Given the description of an element on the screen output the (x, y) to click on. 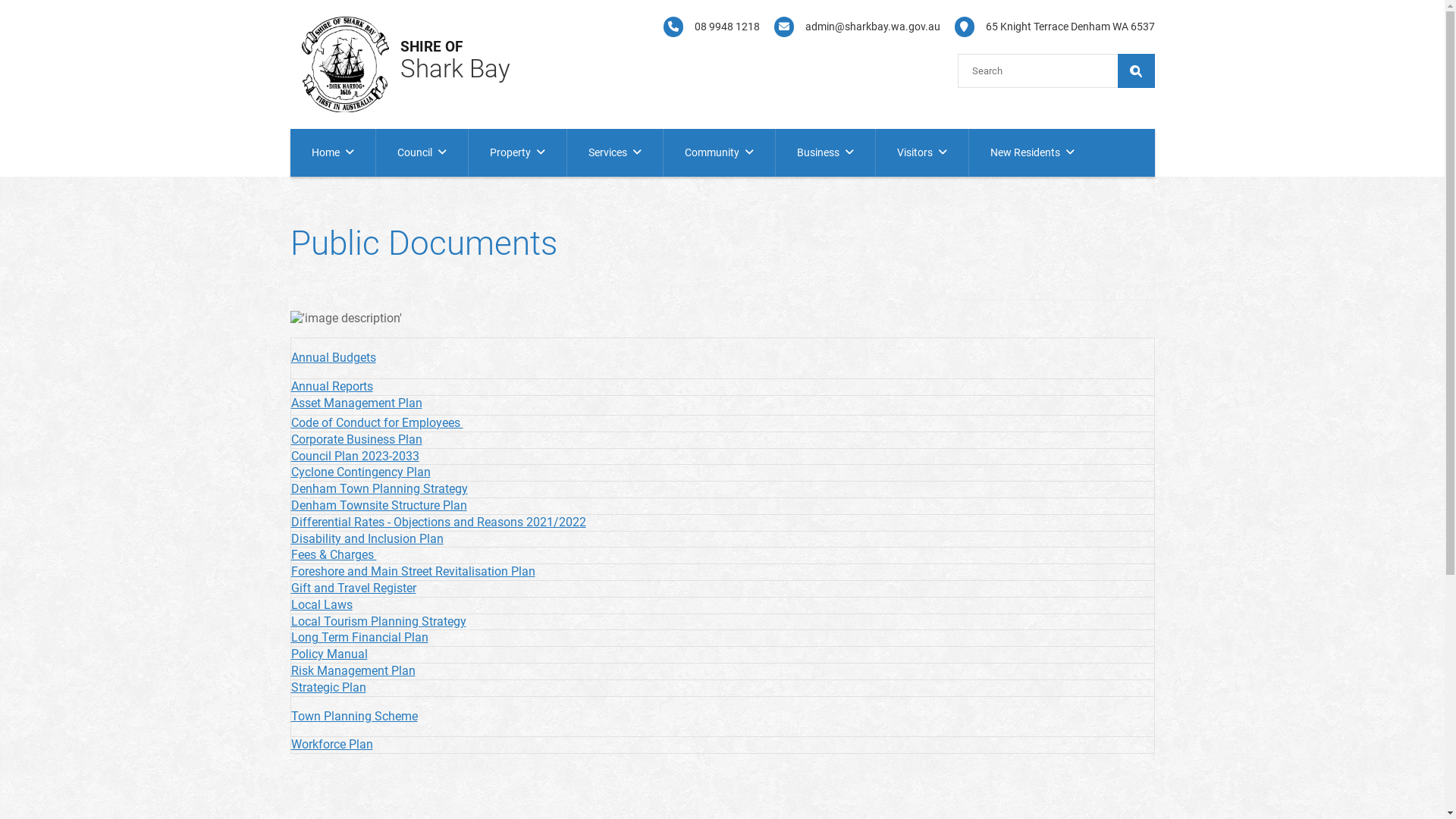
shark bay weekly forecast Element type: text (926, 64)
Strategic Plan Element type: text (328, 687)
admin@sharkbay.wa.gov.au Element type: text (851, 26)
Services Element type: text (614, 152)
Weather Widget for Shark Bay Element type: hover (835, 64)
Local Laws Element type: text (321, 604)
65 Knight Terrace Denham WA 6537 Element type: text (1048, 26)
Gift and Travel Register Element type: text (353, 587)
Differential Rates - Objections and Reasons 2021/2022 Element type: text (438, 521)
Visitors Element type: text (921, 152)
Council Plan 2023-2033 Element type: text (355, 455)
Community Element type: text (718, 152)
Annual Reports Element type: text (332, 386)
New Residents Element type: text (1032, 152)
Denham Town Planning Strategy Element type: text (379, 488)
Local Tourism Planning Strategy Element type: text (378, 621)
SHIRE OF
Shark Bay Element type: text (432, 50)
Fees & Charges  Element type: text (333, 554)
Denham Townsite Structure Plan Element type: text (379, 505)
Workforce Plan Element type: text (332, 744)
Asset Management Plan Element type: text (356, 402)
Council Element type: text (421, 152)
08 9948 1218 Element type: text (705, 26)
Corporate Business Plan Element type: text (356, 439)
Property Element type: text (517, 152)
Annual Budgets Element type: text (333, 357)
Cyclone Contingency Plan Element type: text (360, 471)
Town Planning Scheme Element type: text (354, 716)
Long Term Financial Plan Element type: text (359, 637)
Risk Management Plan Element type: text (353, 670)
Foreshore and Main Street Revitalisation Plan Element type: text (413, 571)
Policy Manual Element type: text (329, 653)
Code of Conduct for Employees  Element type: text (377, 422)
Home Element type: text (331, 152)
Disability and Inclusion Plan Element type: text (367, 538)
Business Element type: text (824, 152)
